Given the description of an element on the screen output the (x, y) to click on. 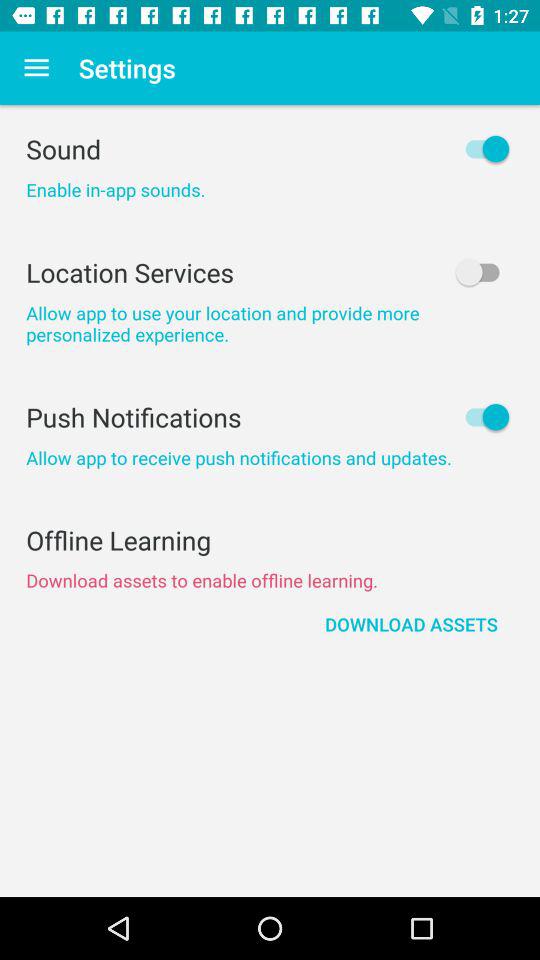
jump until the sound (269, 148)
